Given the description of an element on the screen output the (x, y) to click on. 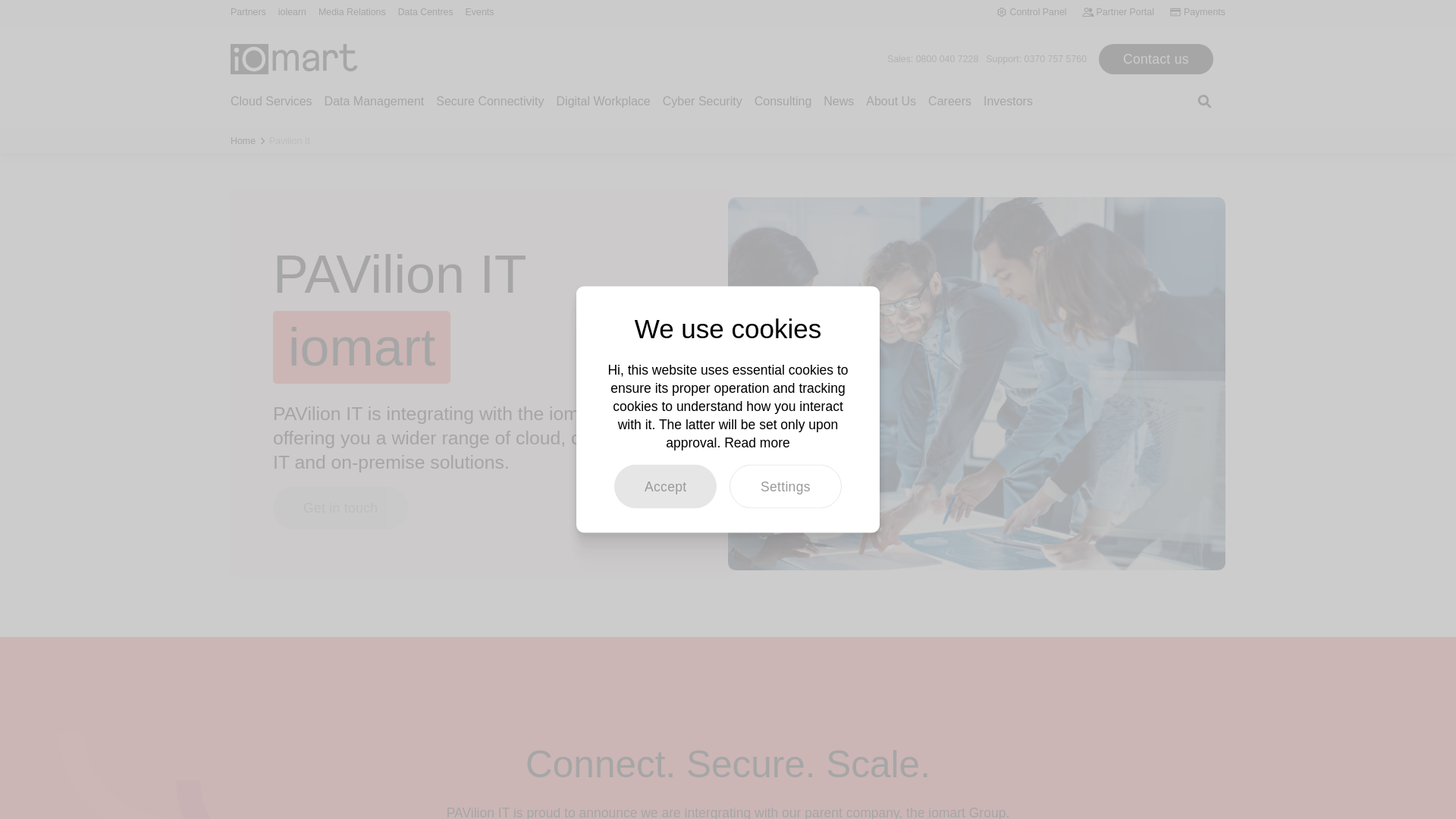
About Us (890, 110)
News (838, 110)
Sales: 0800 040 7228 (932, 59)
Support: 0370 757 5760 (1035, 59)
Contact us (1155, 59)
Partner Portal (1117, 11)
Partners (248, 11)
Consulting (783, 110)
Get in touch (340, 507)
Secure Connectivity (489, 110)
Careers (949, 110)
Payments (1197, 11)
Home (243, 141)
Cloud Services (271, 110)
Investors (1008, 110)
